Given the description of an element on the screen output the (x, y) to click on. 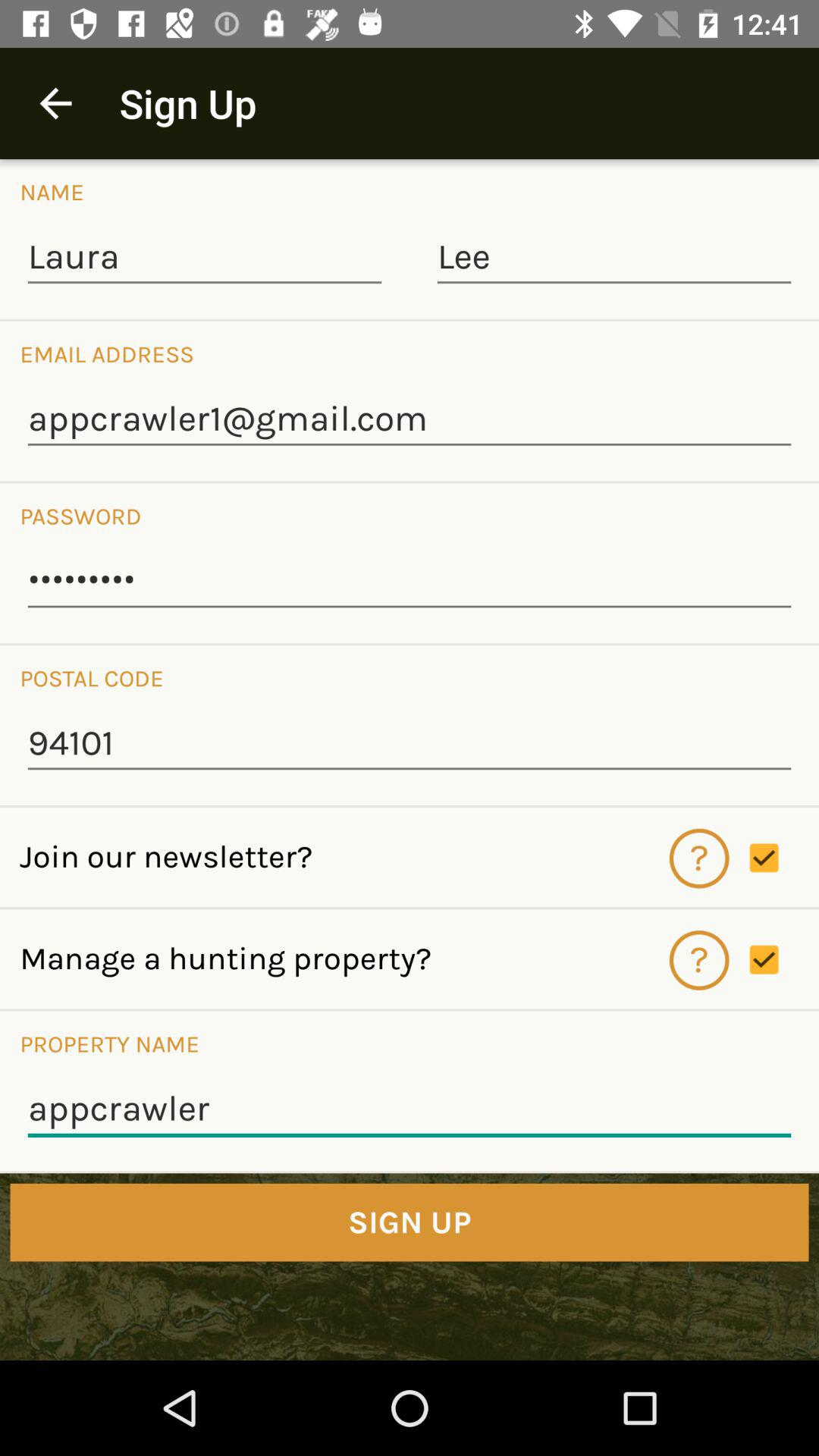
launch the icon next to the sign up app (55, 103)
